Given the description of an element on the screen output the (x, y) to click on. 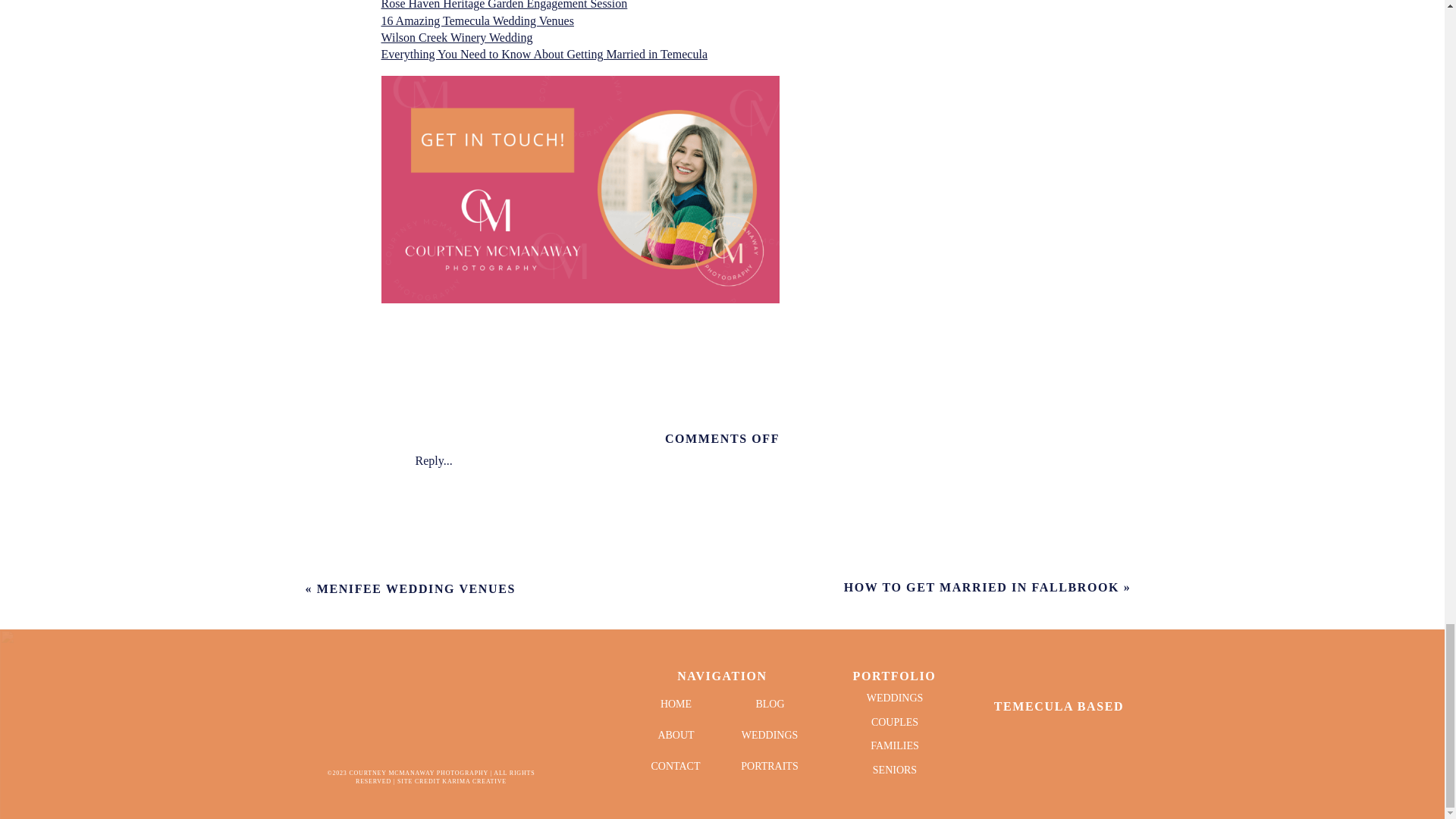
Rose Haven Heritage Garden Engagement Session (503, 4)
HOW TO GET MARRIED IN FALLBROOK (981, 586)
16 Amazing Temecula Wedding Venues (476, 20)
MENIFEE WEDDING VENUES (416, 588)
Wilson Creek Winery Wedding (456, 37)
